Given the description of an element on the screen output the (x, y) to click on. 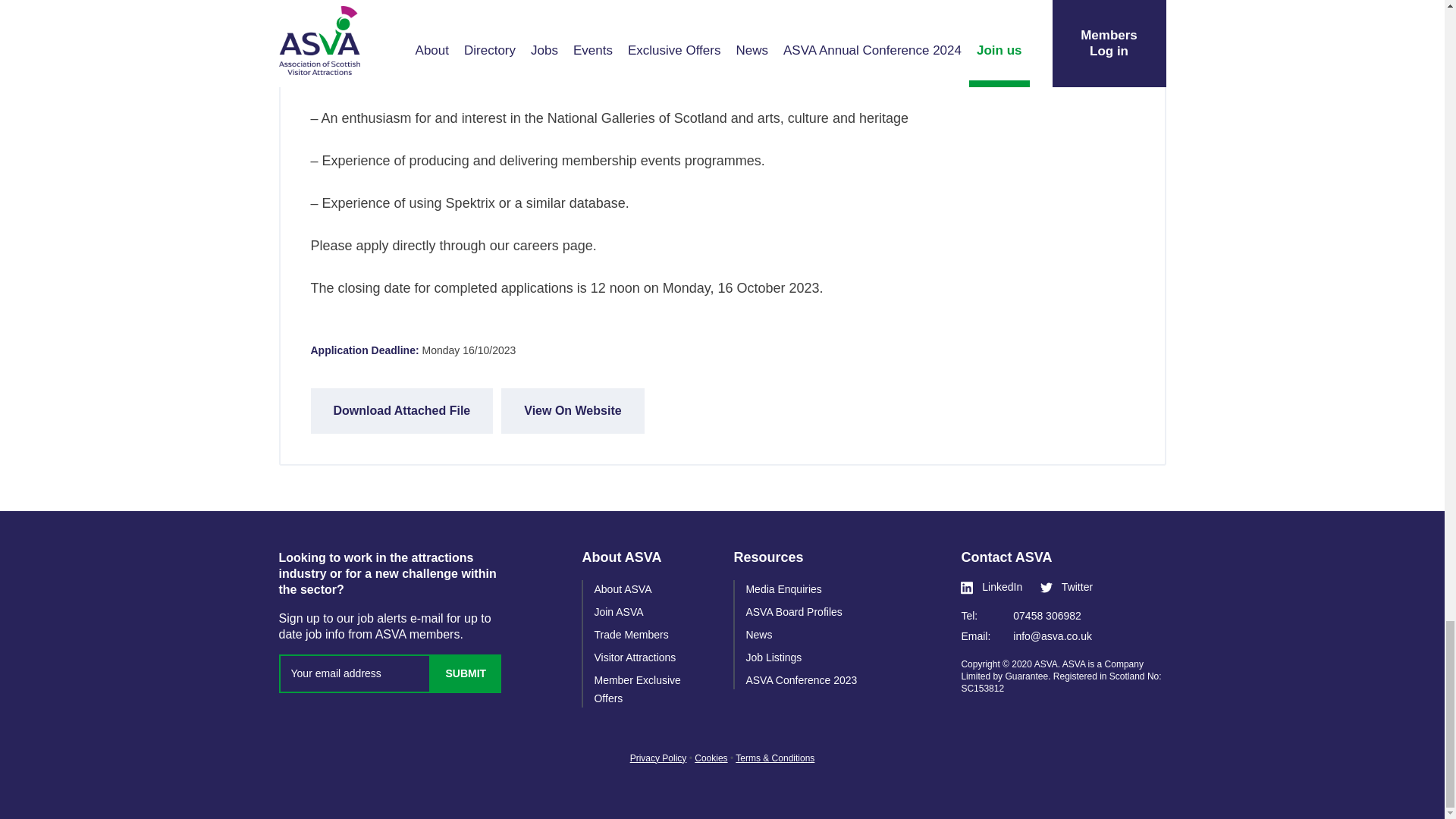
LinkedIn (991, 586)
SUBMIT (466, 673)
Twitter (1067, 586)
Media Enquiries (783, 589)
Trade Members (631, 634)
ASVA Board Profiles (793, 612)
Cookies (710, 757)
News (758, 634)
Privacy Policy (658, 757)
Visitor Attractions (634, 657)
View On Website (571, 411)
Member Exclusive Offers (636, 689)
About ASVA (622, 589)
Job Listings (773, 657)
Download Attached File (402, 411)
